Given the description of an element on the screen output the (x, y) to click on. 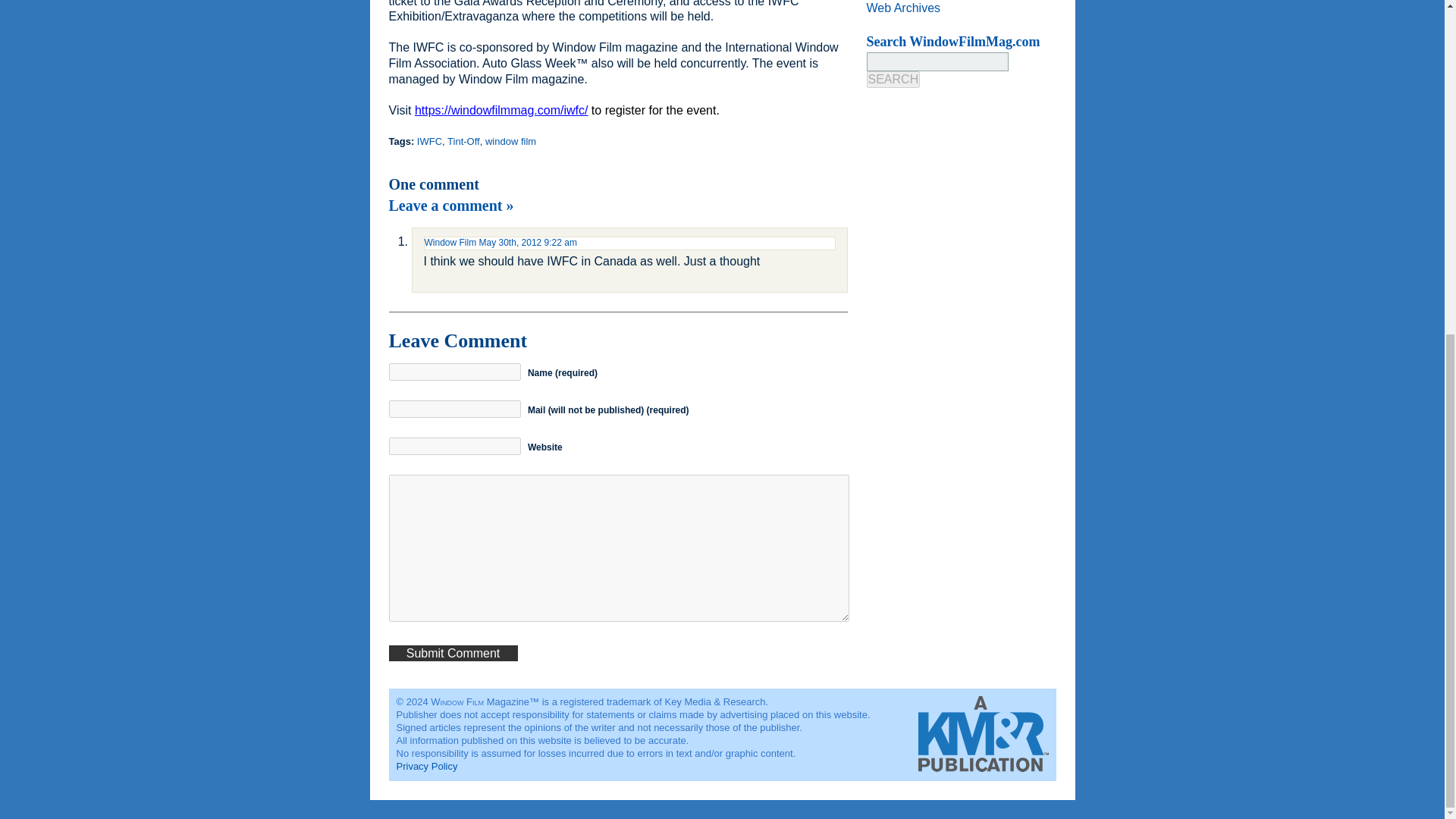
SEARCH (893, 79)
Submit Comment (452, 652)
Submit Comment (452, 652)
IWFC (429, 141)
May 30th, 2012 9:22 am (527, 242)
Window Film (451, 242)
Tint-Off (463, 141)
Leave a comment (450, 205)
window film (509, 141)
